Given the description of an element on the screen output the (x, y) to click on. 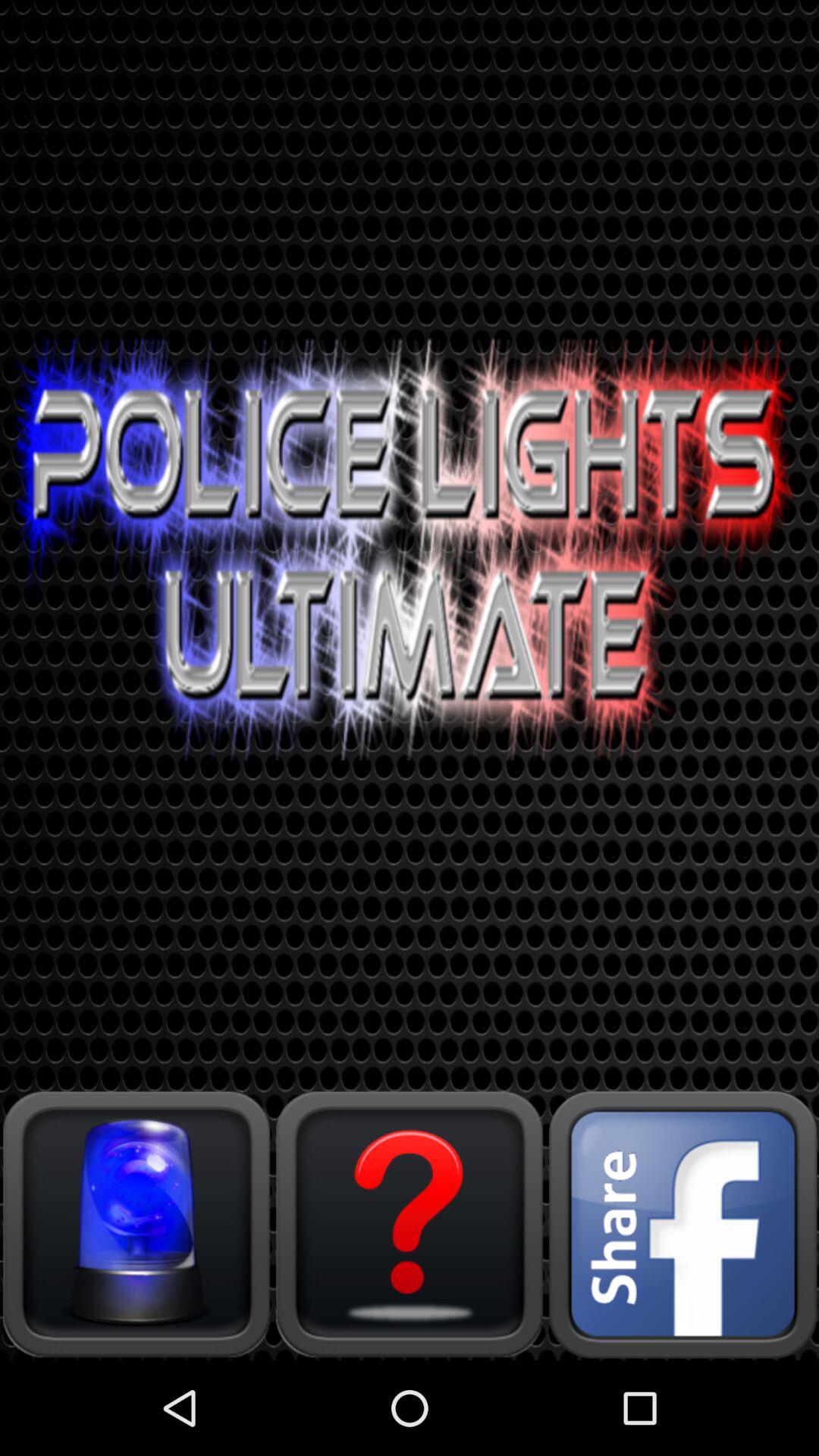
share on facebook (682, 1223)
